Given the description of an element on the screen output the (x, y) to click on. 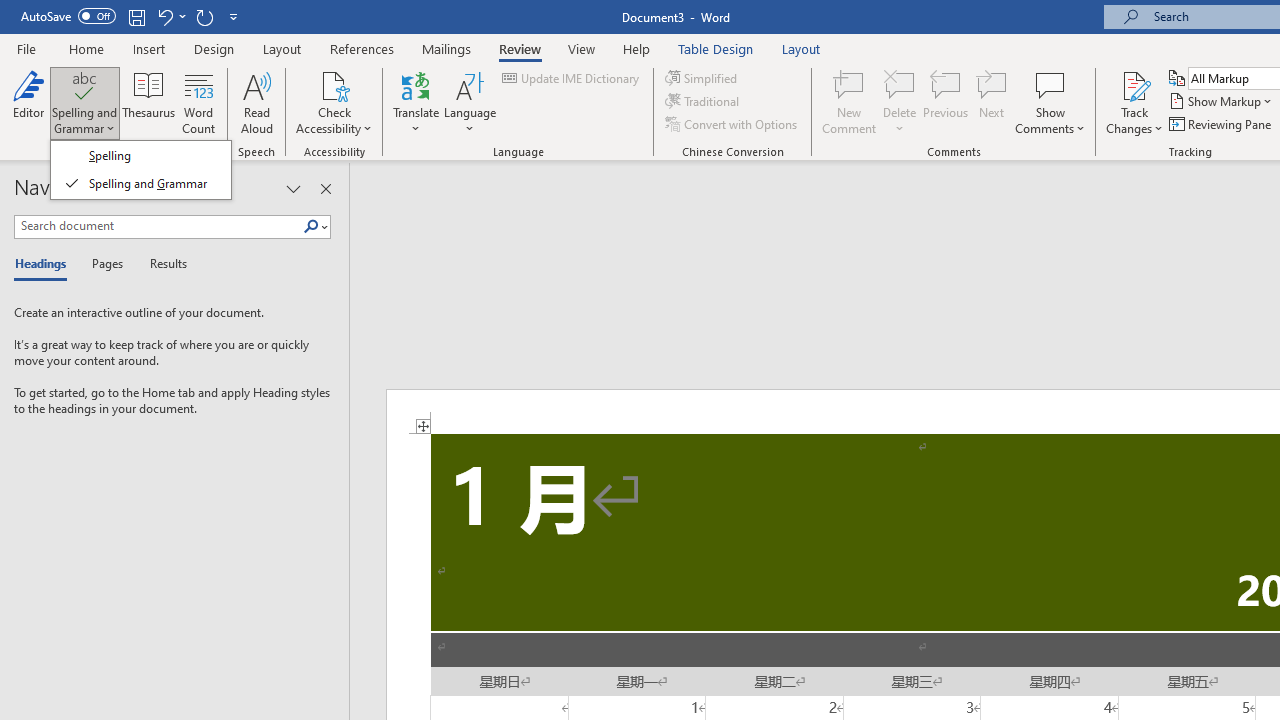
Show Markup (1222, 101)
Translate (415, 102)
Show Comments (1050, 102)
Delete (900, 84)
Thesaurus... (148, 102)
